Given the description of an element on the screen output the (x, y) to click on. 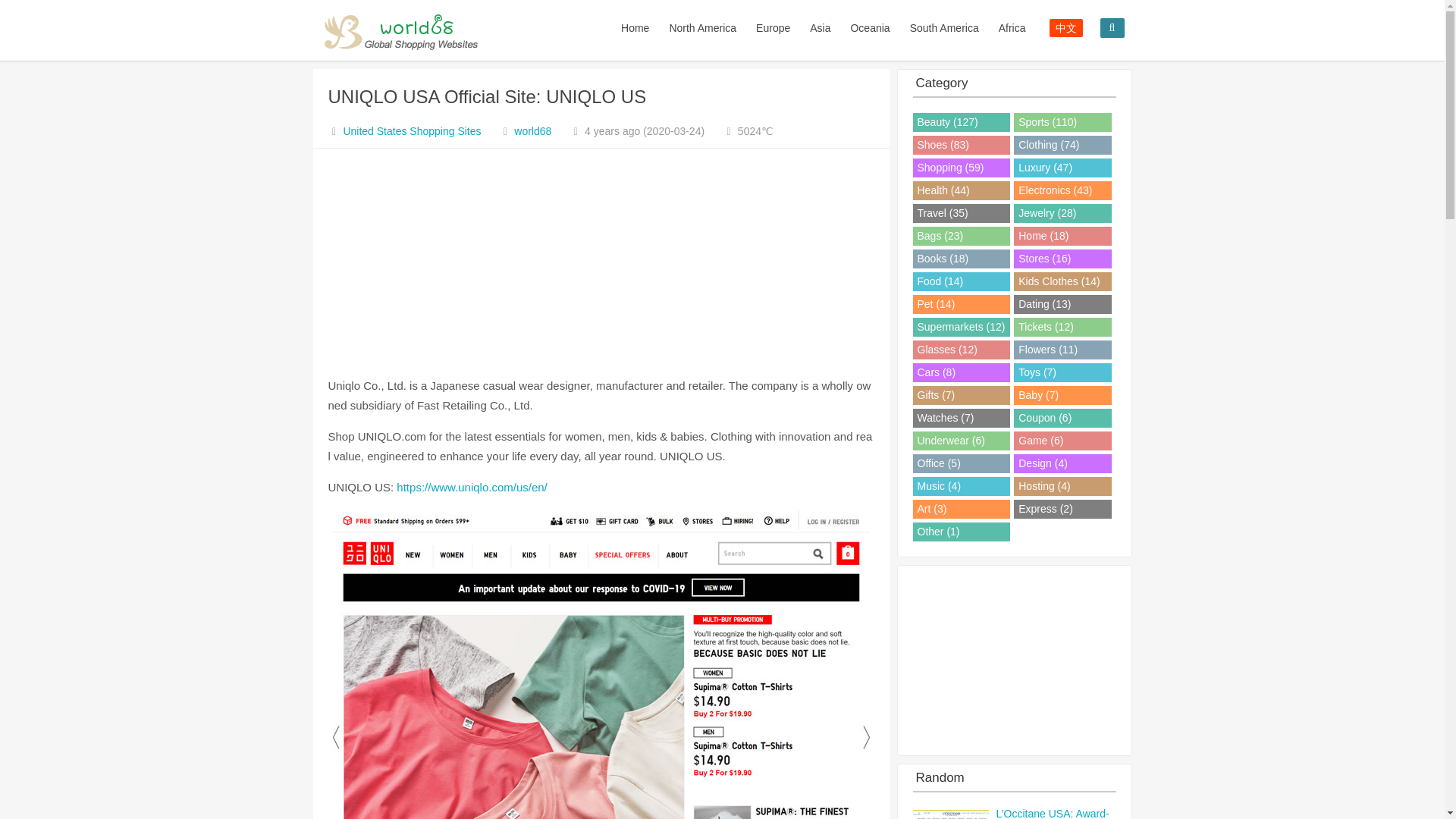
Advertisement (600, 262)
Home (635, 28)
Europe (772, 28)
Asia (819, 28)
North America (702, 28)
